Given the description of an element on the screen output the (x, y) to click on. 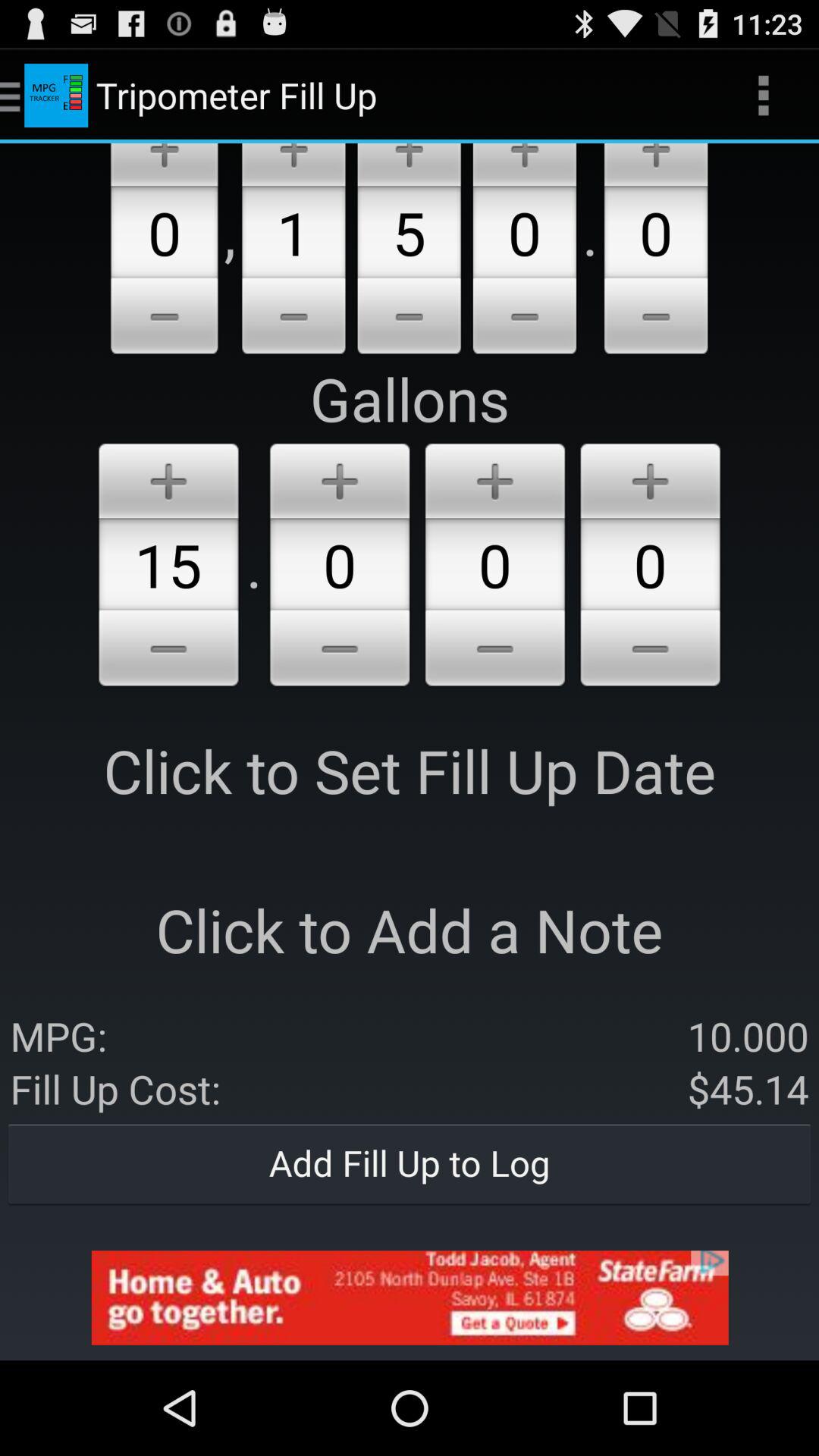
select the 5th minus (655, 318)
select the 1st zero from gallons (339, 564)
click on the option 0 beside option 5 (524, 250)
select the icon which is just above the 1 (293, 164)
go to the icon which is beside the tripometer fill up (55, 95)
